Given the description of an element on the screen output the (x, y) to click on. 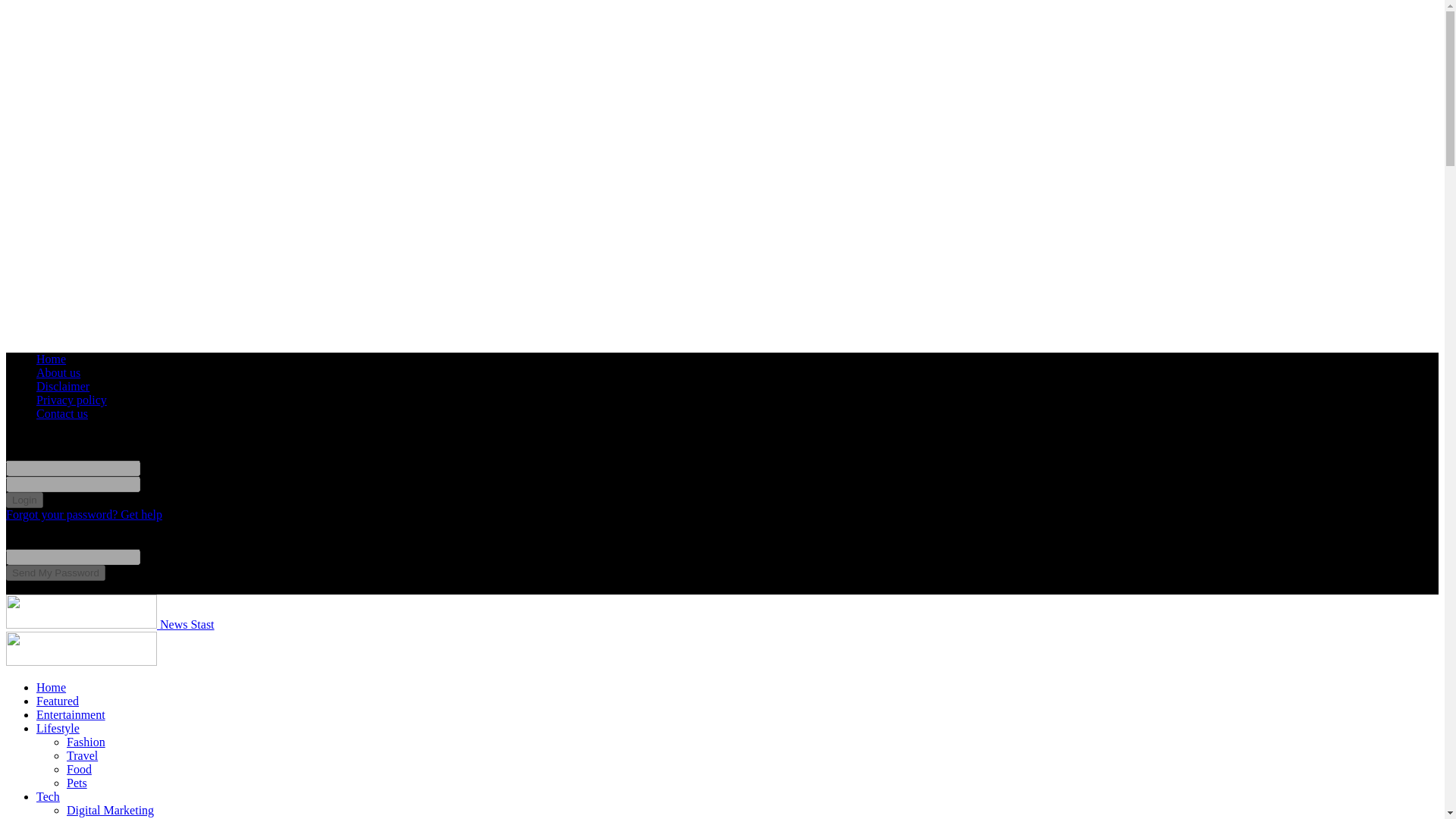
Login (24, 499)
Contact us (61, 413)
Send My Password (54, 572)
About us (58, 372)
Privacy policy (71, 399)
News Stast (109, 624)
Home (50, 358)
Forgot your password? Get help (83, 513)
Disclaimer (62, 386)
